Given the description of an element on the screen output the (x, y) to click on. 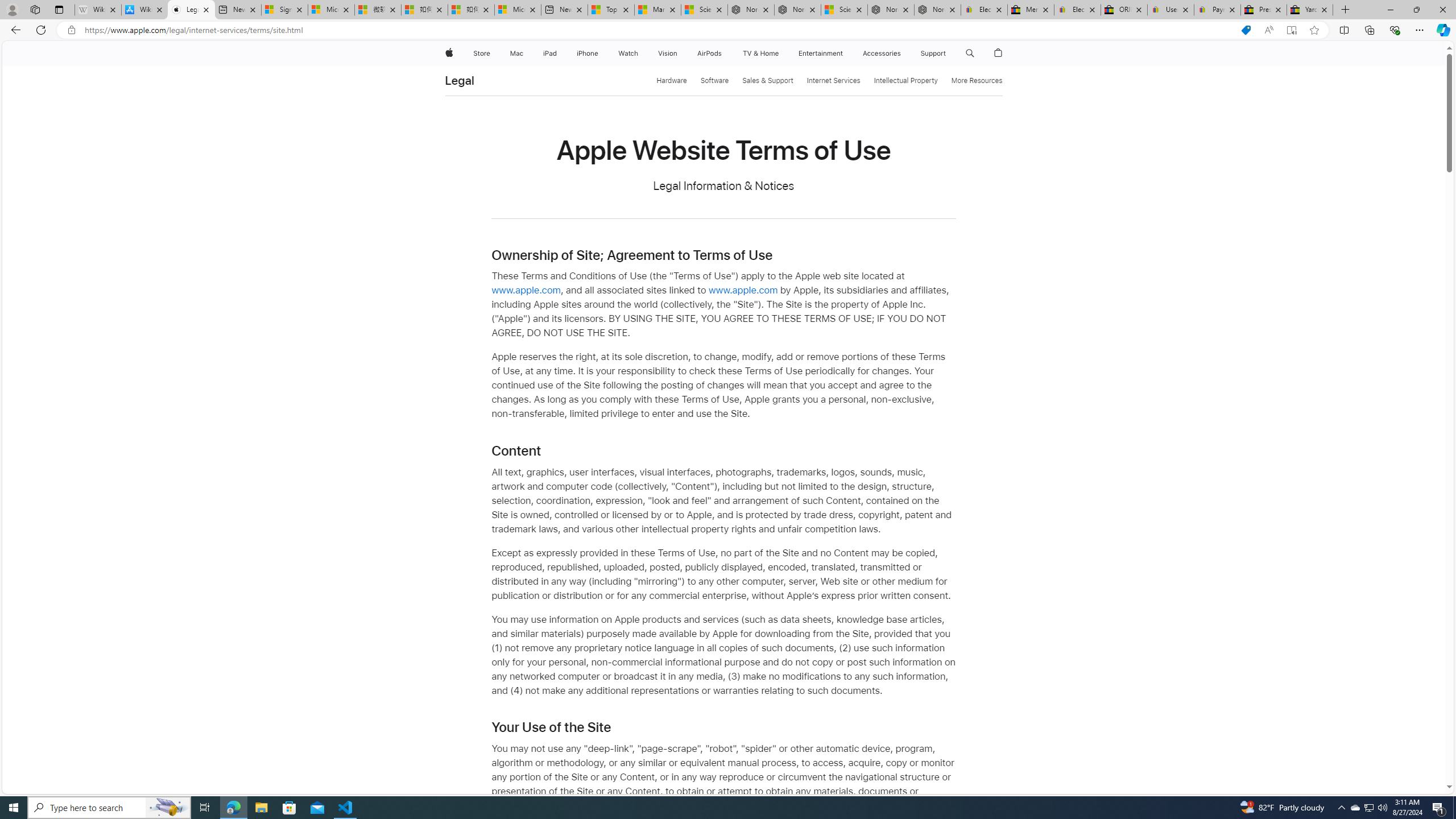
Mac menu (524, 53)
Microsoft account | Account Checkup (517, 9)
Mac (516, 53)
www.apple.com (742, 290)
Software (714, 80)
Entertainment menu (844, 53)
iPad (550, 53)
Intellectual Property (905, 80)
Hardware (671, 80)
